Given the description of an element on the screen output the (x, y) to click on. 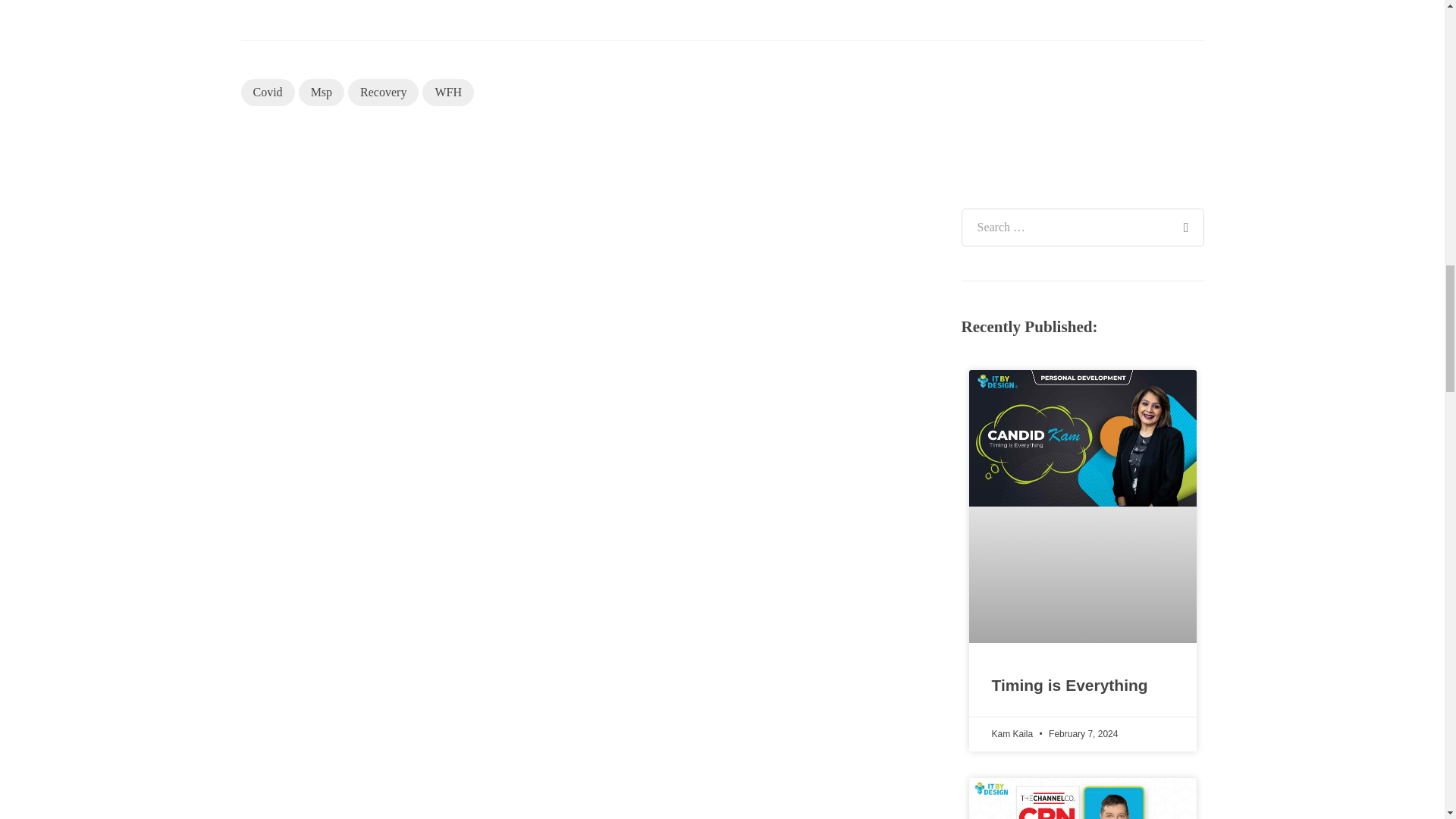
Search (1185, 217)
Search (1185, 217)
